Given the description of an element on the screen output the (x, y) to click on. 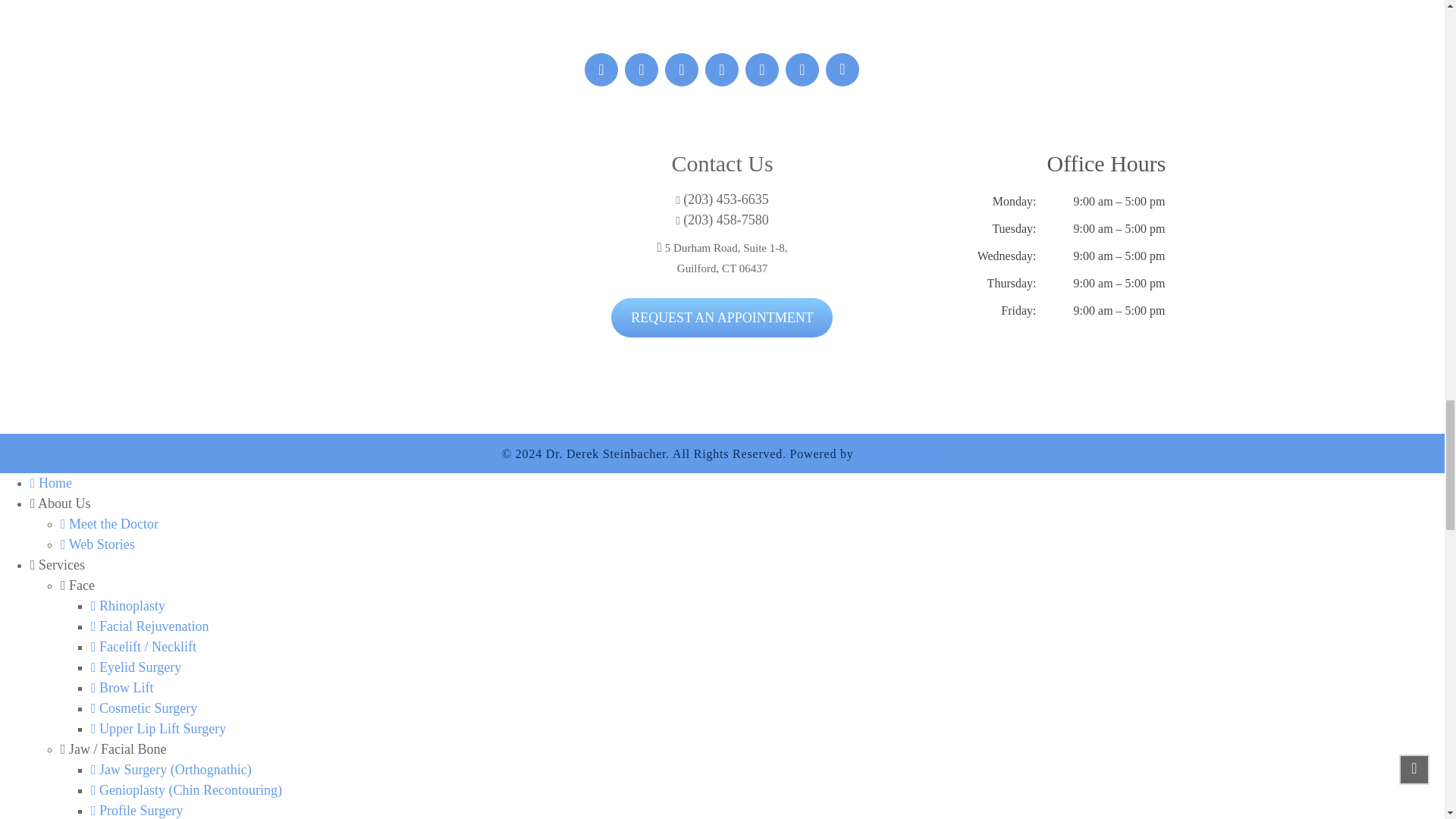
Link open in new window (899, 453)
Link open in new window (721, 257)
Map and Direction to the Office (318, 244)
